Given the description of an element on the screen output the (x, y) to click on. 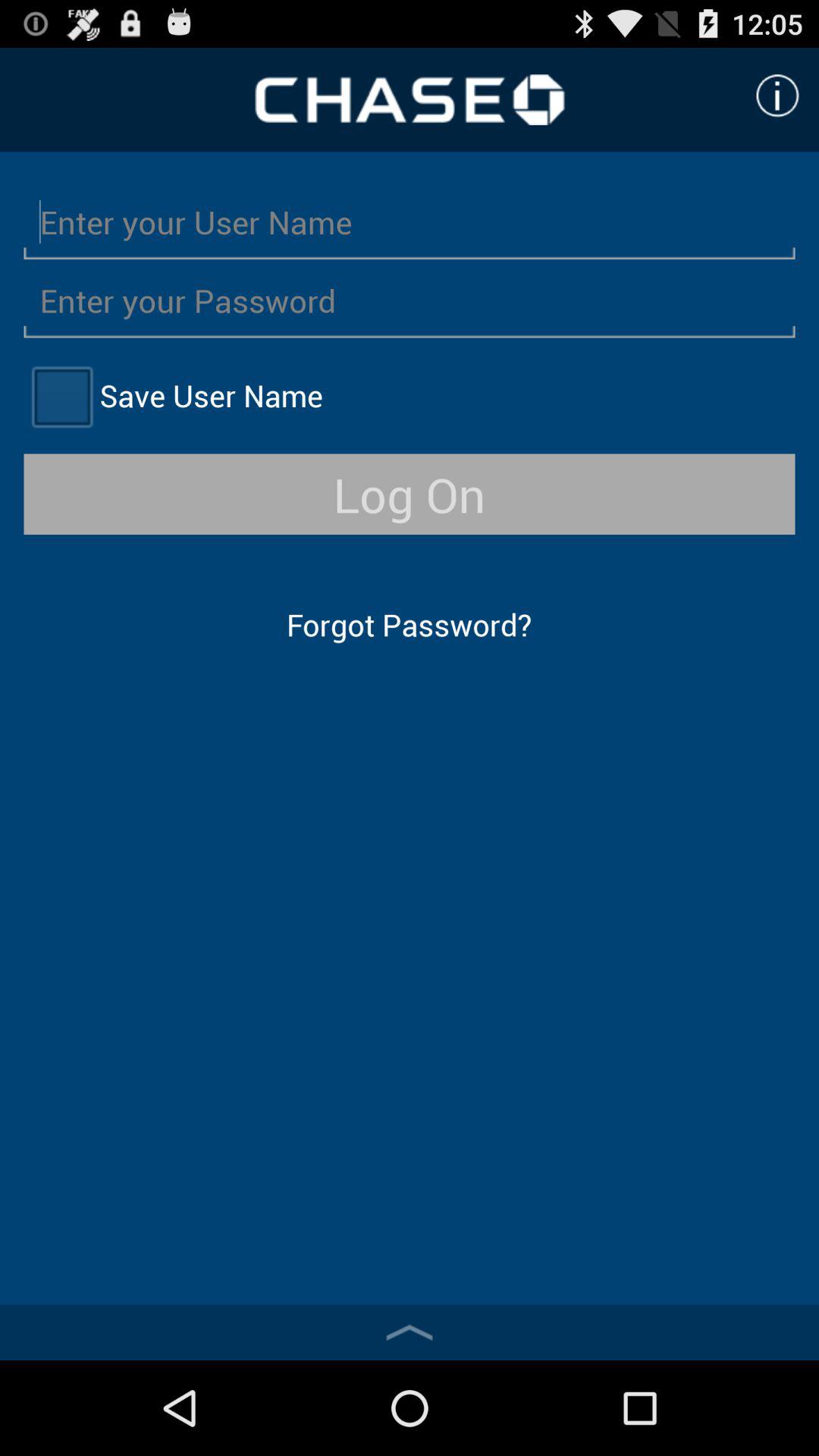
help option (777, 95)
